Given the description of an element on the screen output the (x, y) to click on. 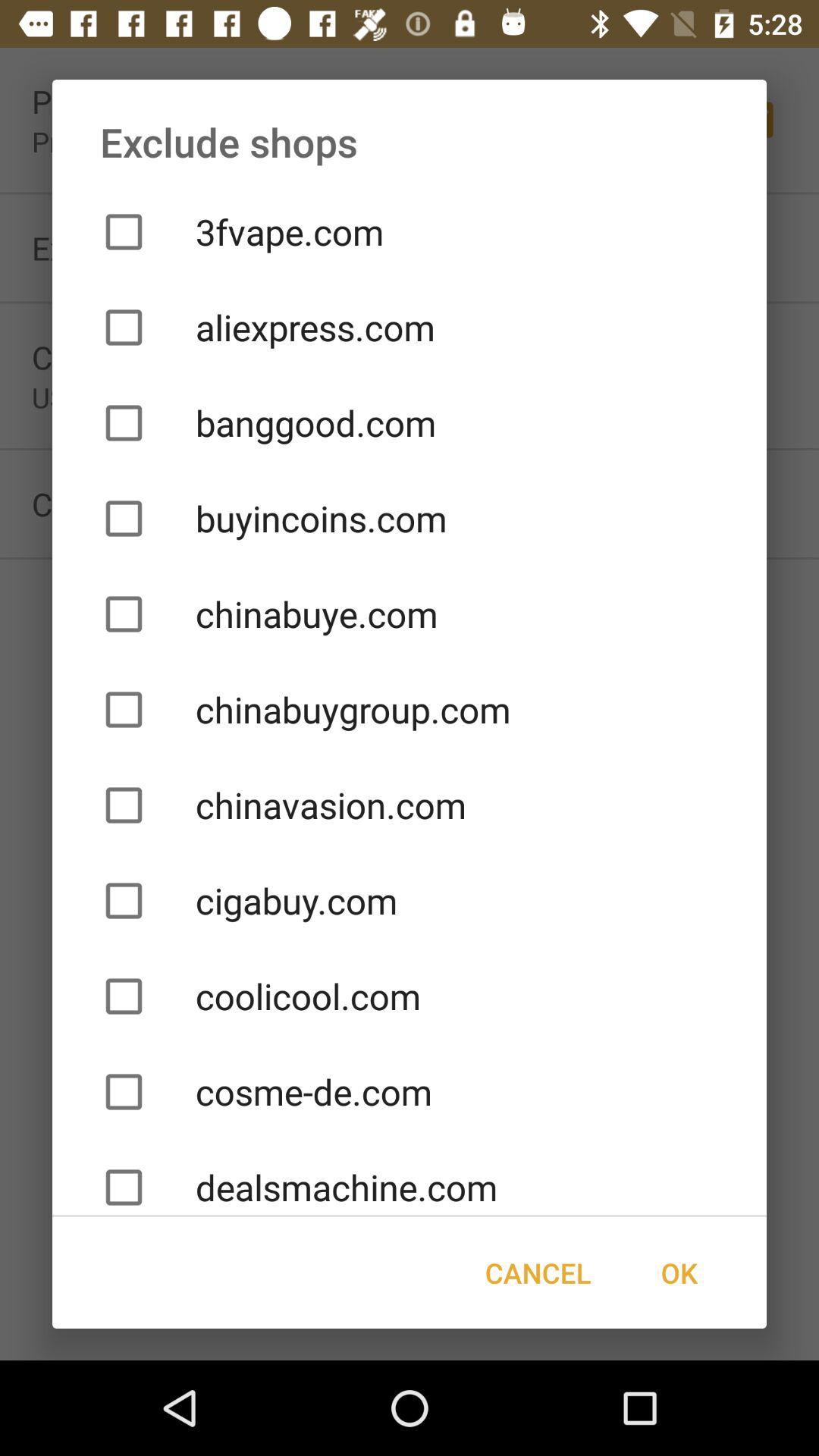
press item at the bottom right corner (678, 1272)
